Given the description of an element on the screen output the (x, y) to click on. 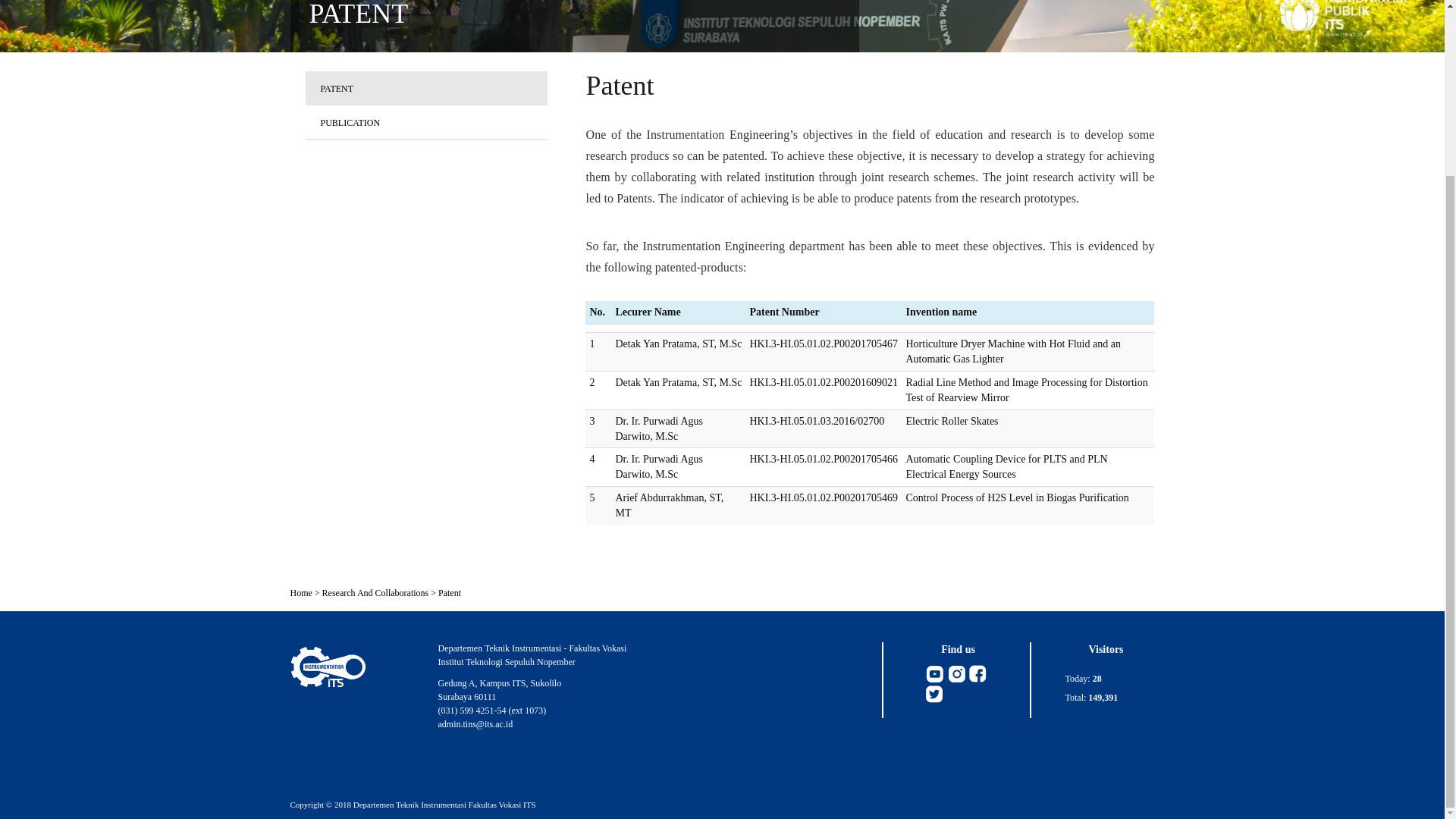
Patent (449, 593)
Research And Collaborations (375, 593)
PUBLICATION (425, 122)
PATENT (425, 88)
